Given the description of an element on the screen output the (x, y) to click on. 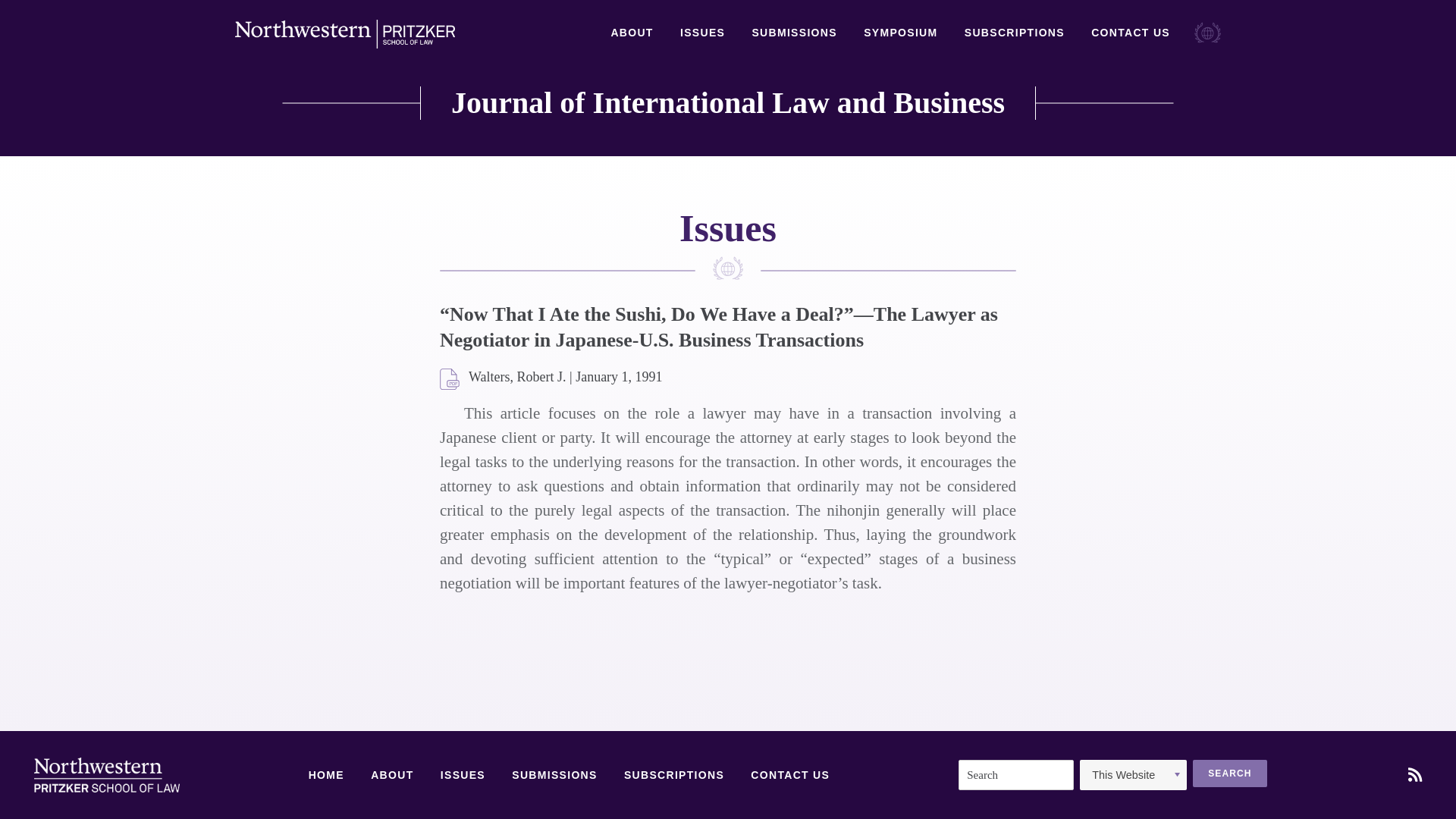
ISSUES (462, 774)
SYMPOSIUM (900, 32)
Search (1229, 773)
Northwestern Pritzker School of Law (344, 34)
This Website (1133, 775)
SUBSCRIPTIONS (673, 774)
Search (1229, 773)
SUBMISSIONS (793, 32)
SUBMISSIONS (554, 774)
ABOUT (631, 32)
Journal of International Law and Business (727, 102)
Journal of International Law and Business (727, 102)
Northwestern Pritzker School of Law (106, 774)
ISSUES (702, 32)
CONTACT US (790, 774)
